Given the description of an element on the screen output the (x, y) to click on. 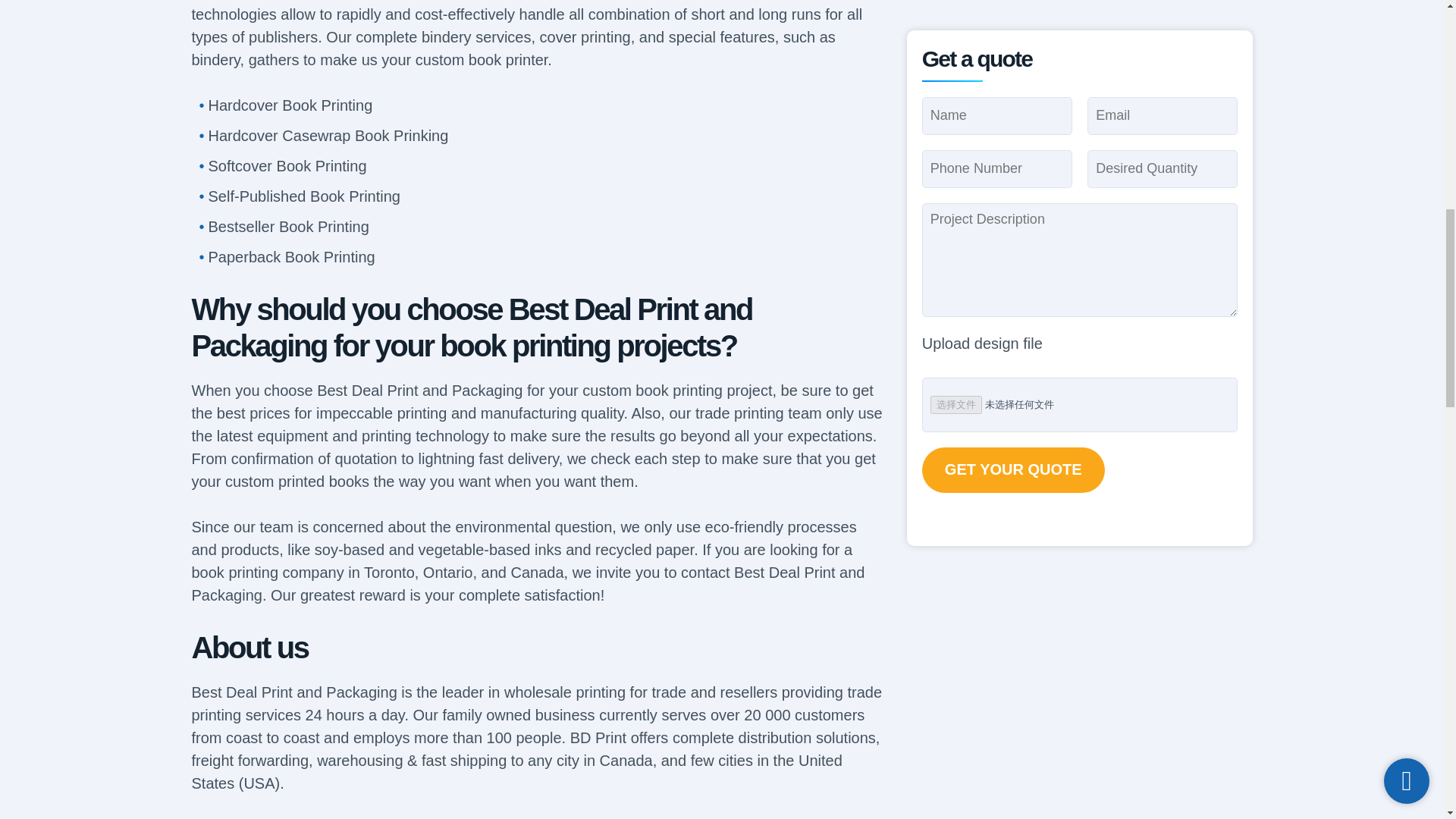
GET YOUR QUOTE (1013, 22)
